Given the description of an element on the screen output the (x, y) to click on. 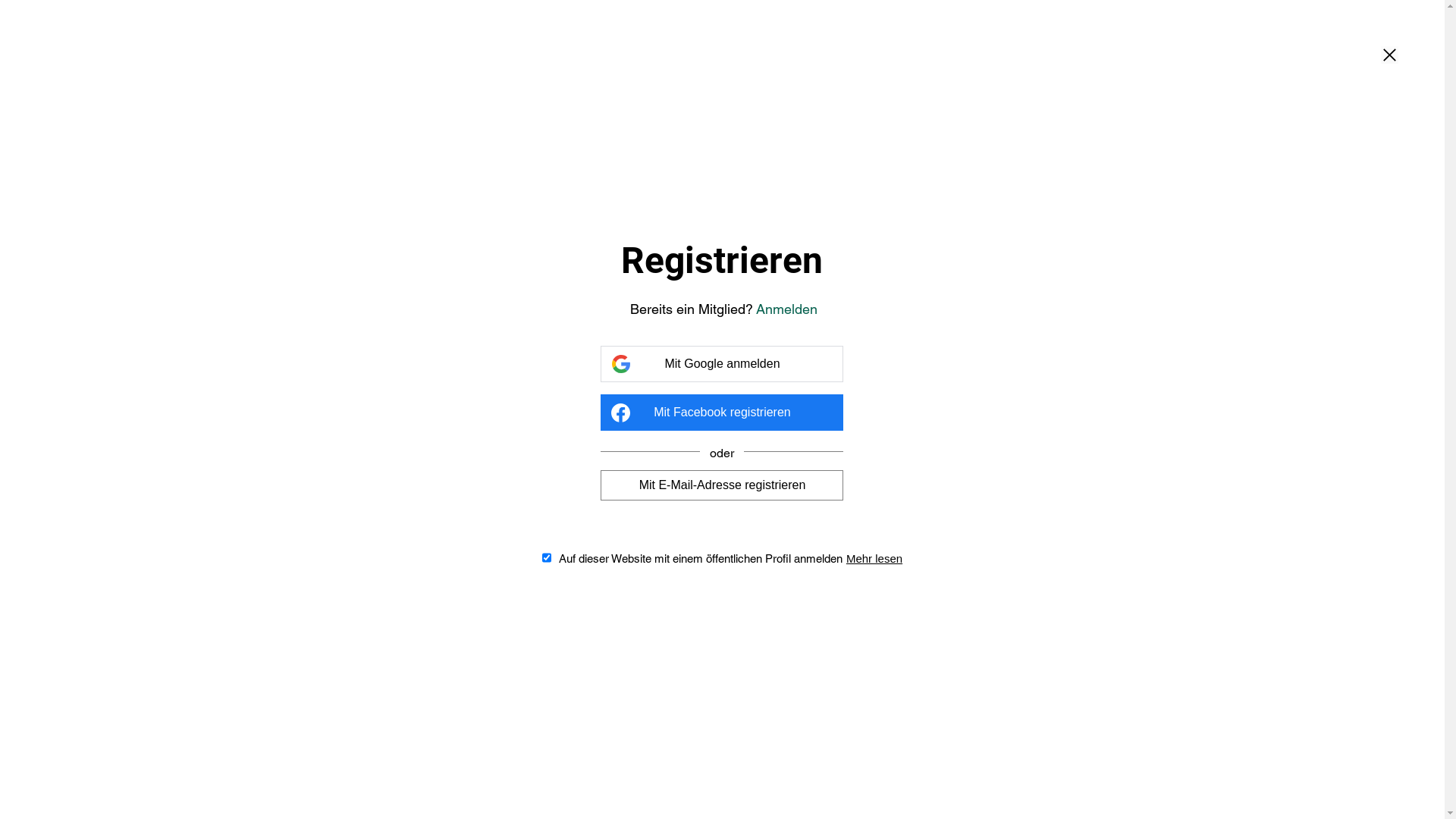
Mehr lesen Element type: text (874, 558)
Mit Google anmelden Element type: text (721, 363)
Mit Facebook registrieren Element type: text (721, 412)
Mit E-Mail-Adresse registrieren Element type: text (721, 485)
Anmelden Element type: text (786, 309)
